Given the description of an element on the screen output the (x, y) to click on. 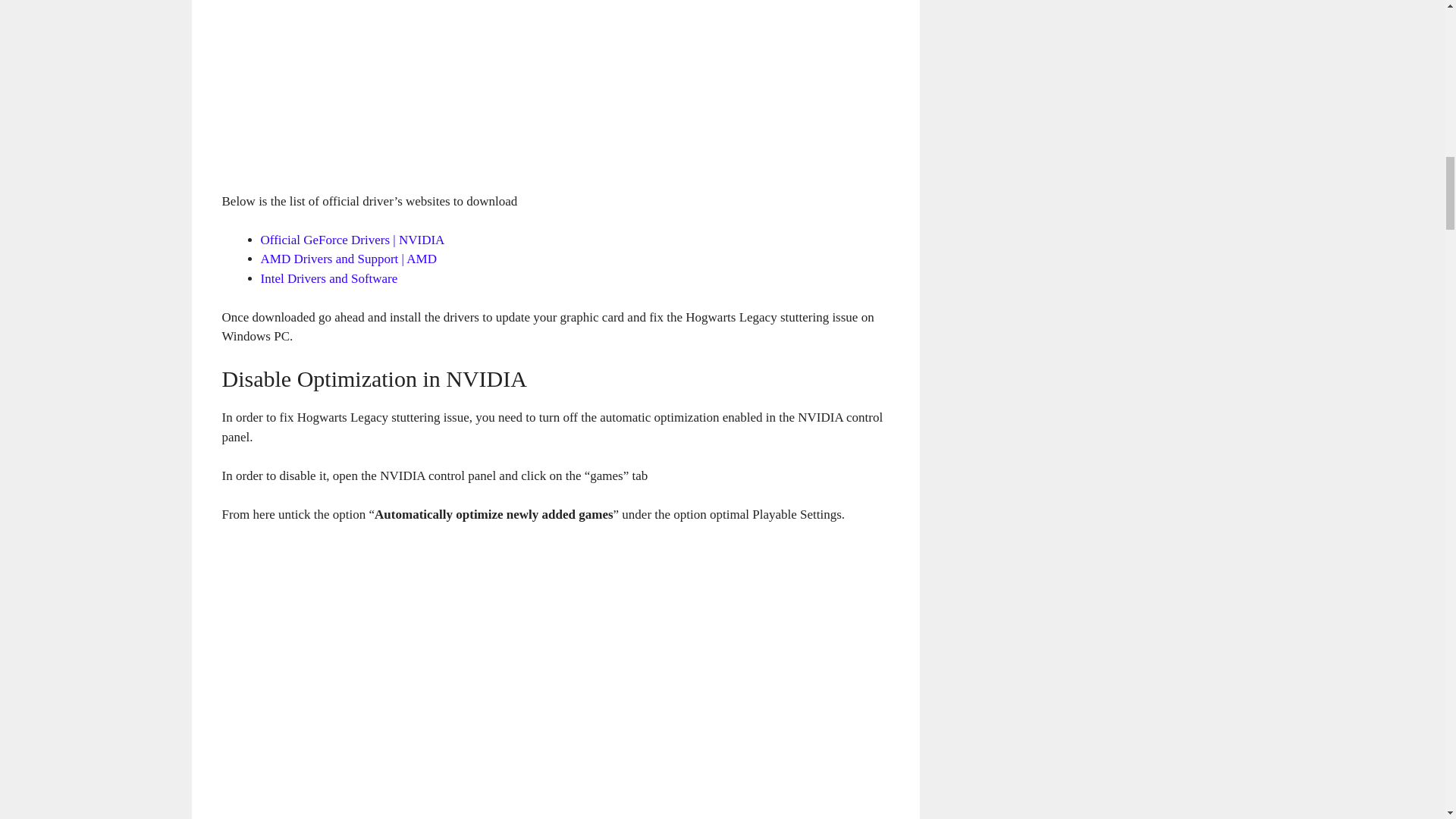
Intel Drivers and Software (328, 278)
